Given the description of an element on the screen output the (x, y) to click on. 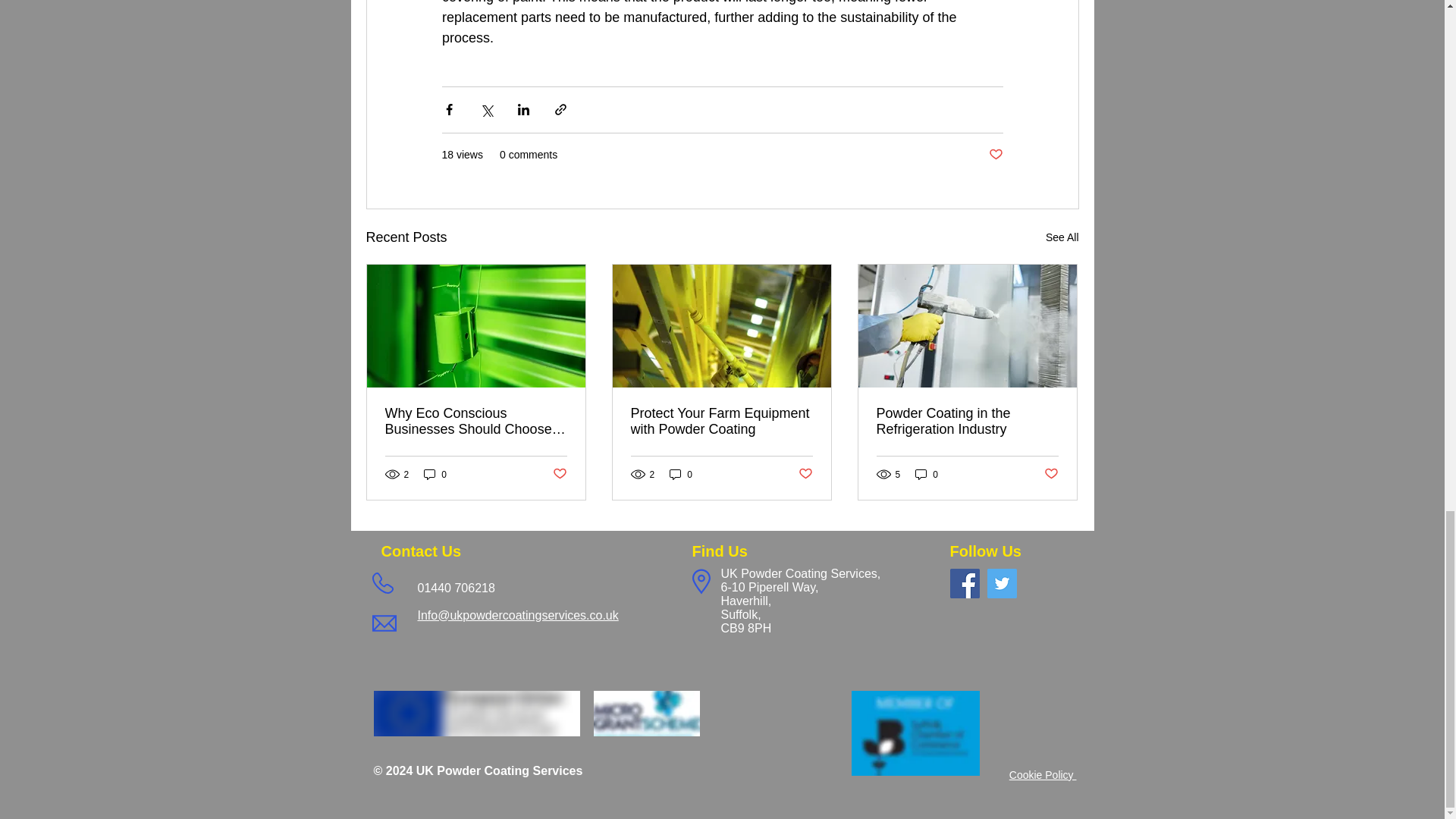
See All (1061, 237)
0 (435, 473)
Post not marked as liked (995, 154)
Post not marked as liked (558, 474)
Powder Coating in the Refrigeration Industry (967, 421)
Why Eco Conscious Businesses Should Choose Powder Coating (476, 421)
Protect Your Farm Equipment with Powder Coating (721, 421)
0 (926, 473)
0 (681, 473)
Post not marked as liked (1050, 474)
